Given the description of an element on the screen output the (x, y) to click on. 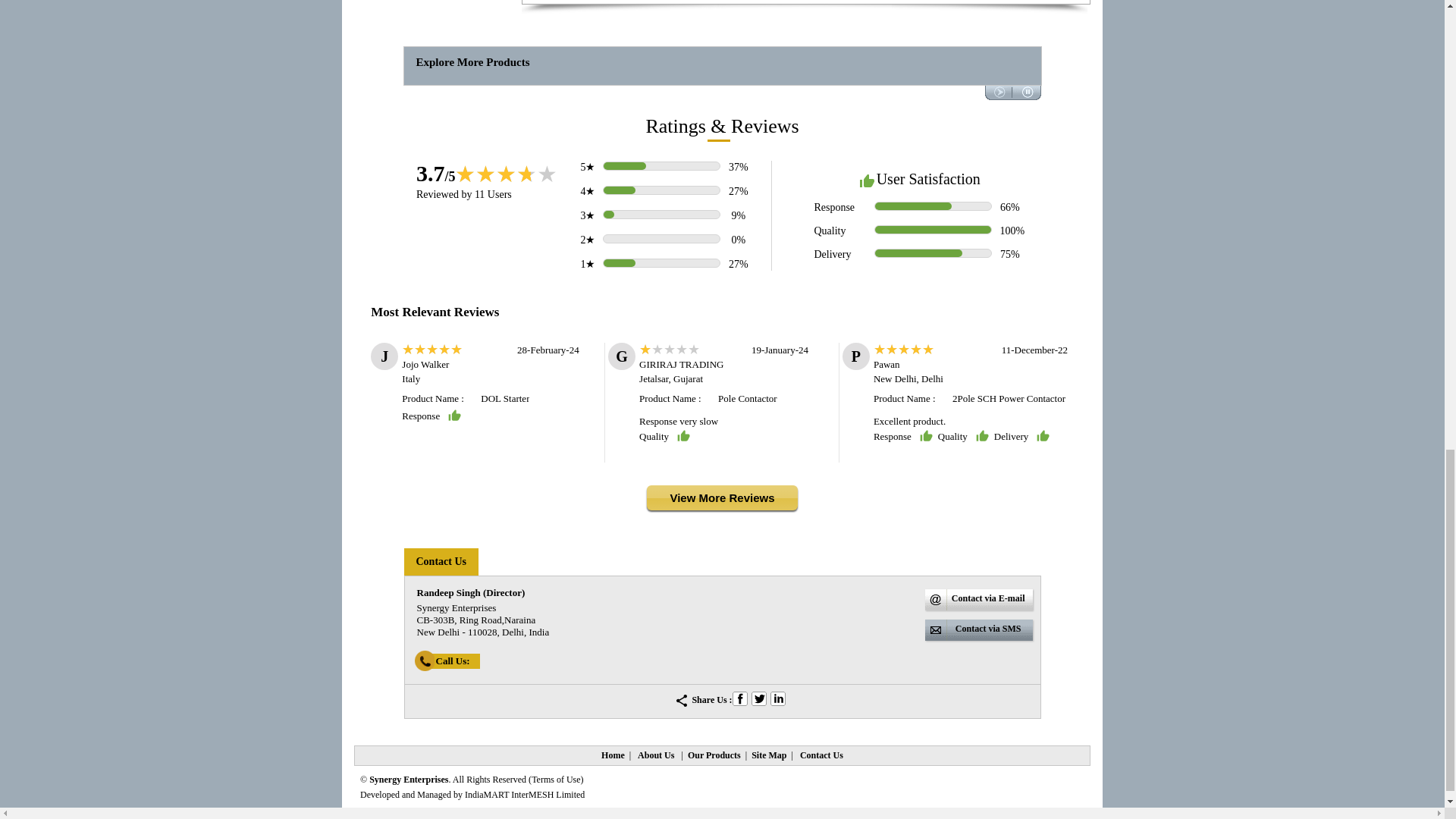
3.7 out of 5 Votes (435, 172)
